Given the description of an element on the screen output the (x, y) to click on. 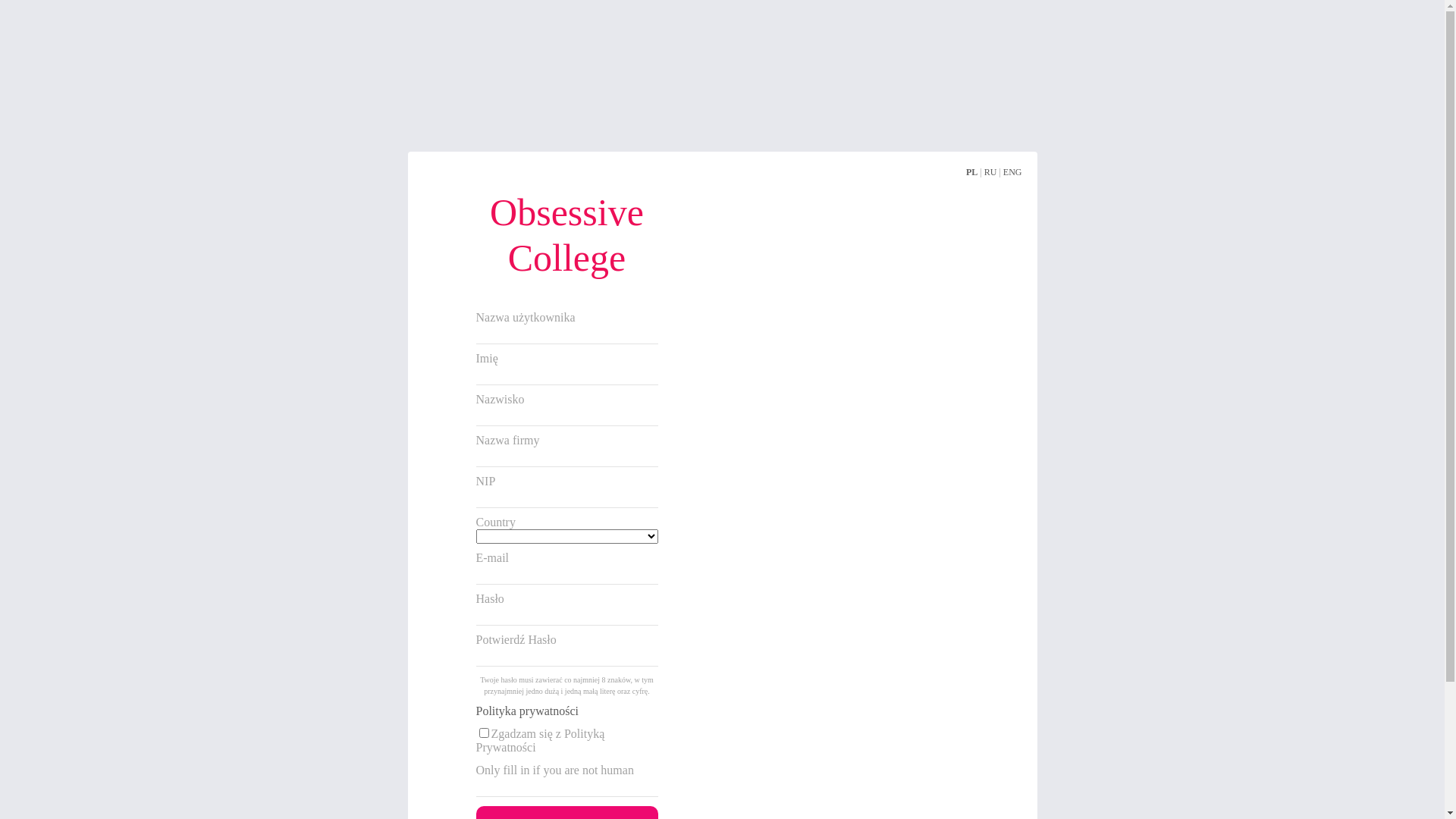
ENG Element type: text (1012, 171)
RU Element type: text (990, 171)
